Given the description of an element on the screen output the (x, y) to click on. 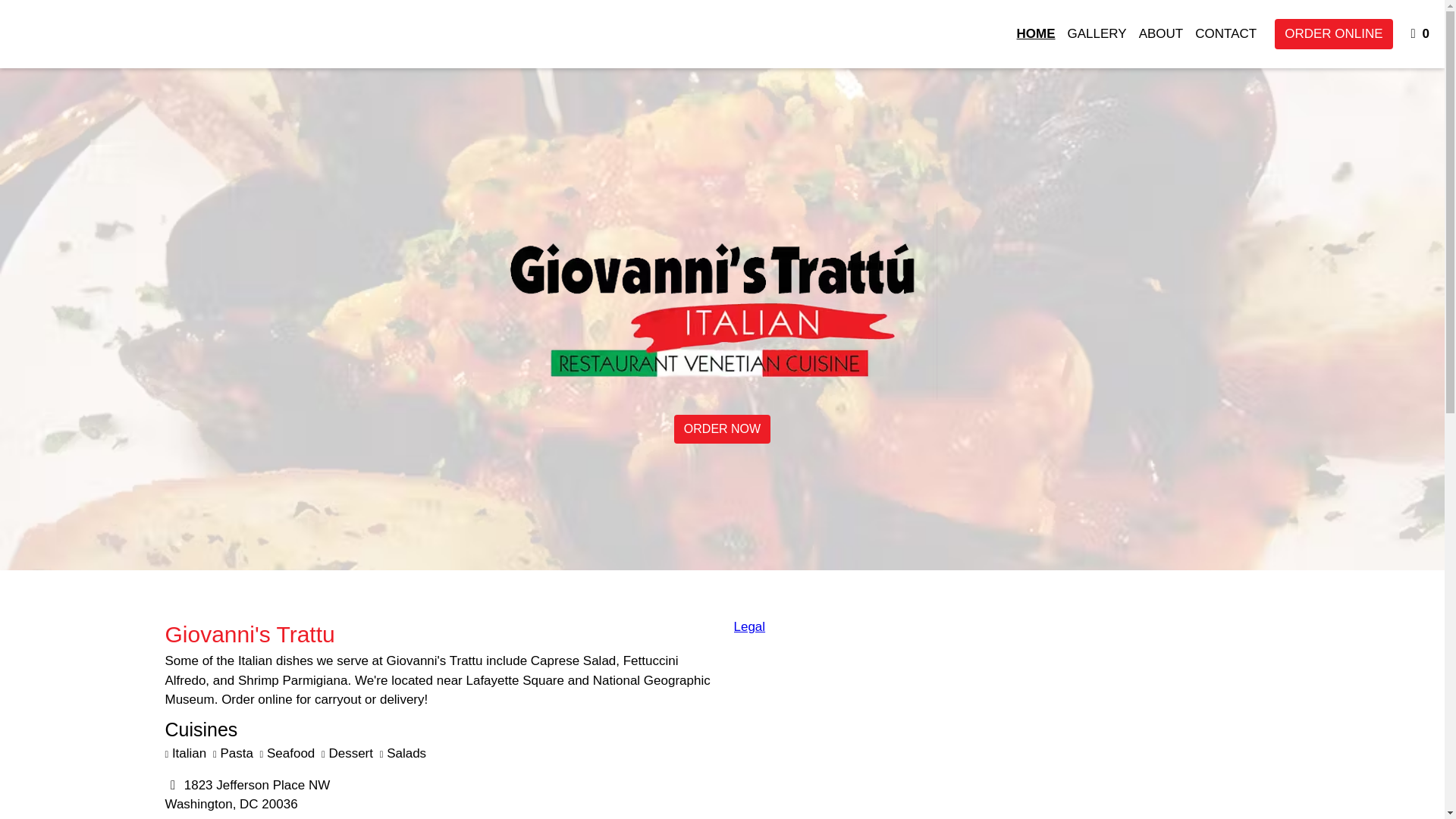
ABOUT (1160, 33)
ORDER ONLINE (1333, 33)
CONTACT (1225, 33)
GALLERY (1421, 33)
ORDER NOW (1096, 33)
HOME (722, 428)
